Given the description of an element on the screen output the (x, y) to click on. 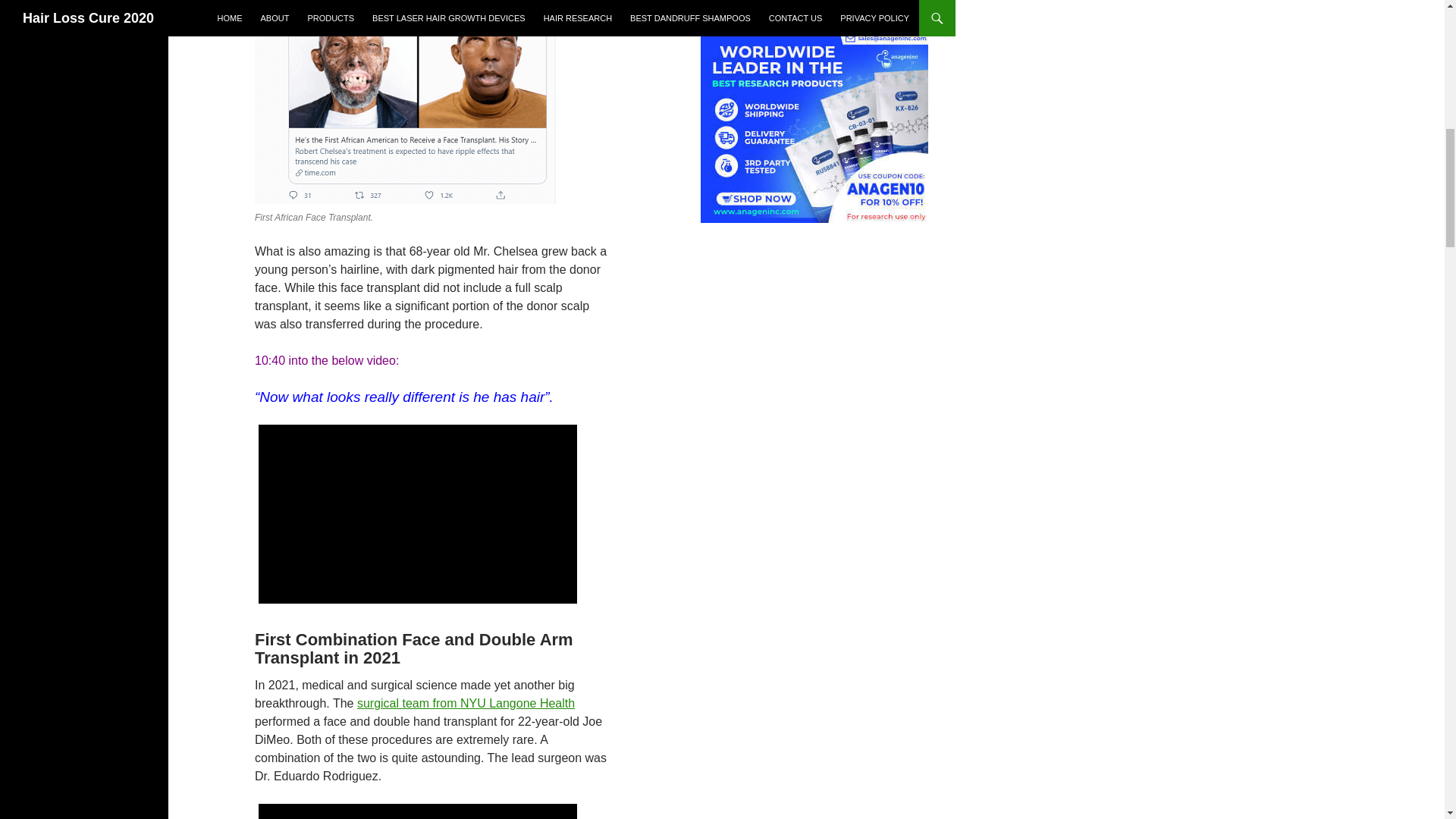
surgical team from NYU Langone Health (465, 703)
